Given the description of an element on the screen output the (x, y) to click on. 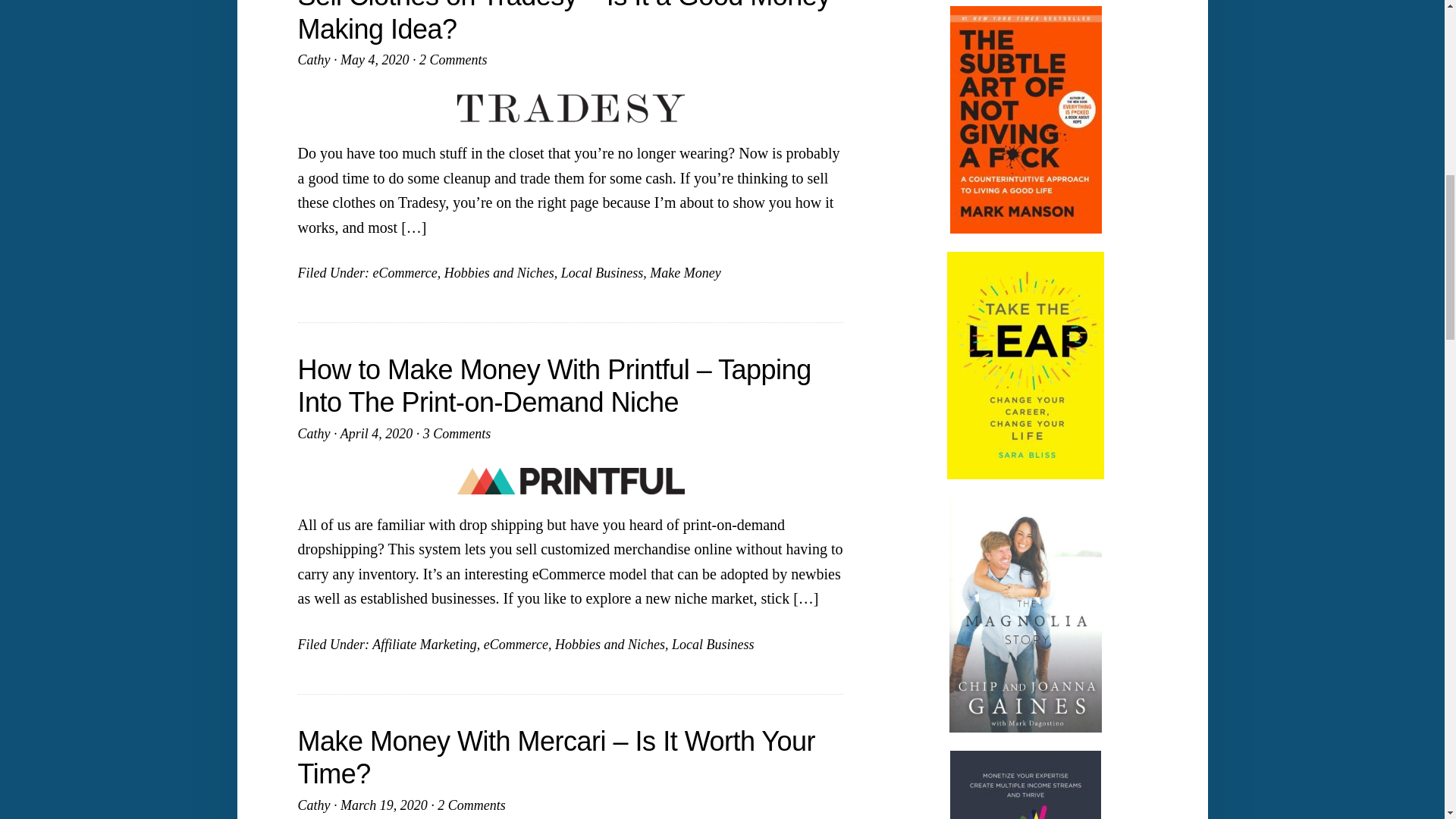
Cathy (313, 59)
Local Business (601, 272)
eCommerce (404, 272)
Cathy (313, 805)
Hobbies and Niches (499, 272)
Make Money (684, 272)
Hobbies and Niches (609, 644)
eCommerce (515, 644)
2 Comments (453, 59)
3 Comments (457, 433)
Cathy (313, 433)
Affiliate Marketing (424, 644)
Local Business (712, 644)
2 Comments (471, 805)
